Given the description of an element on the screen output the (x, y) to click on. 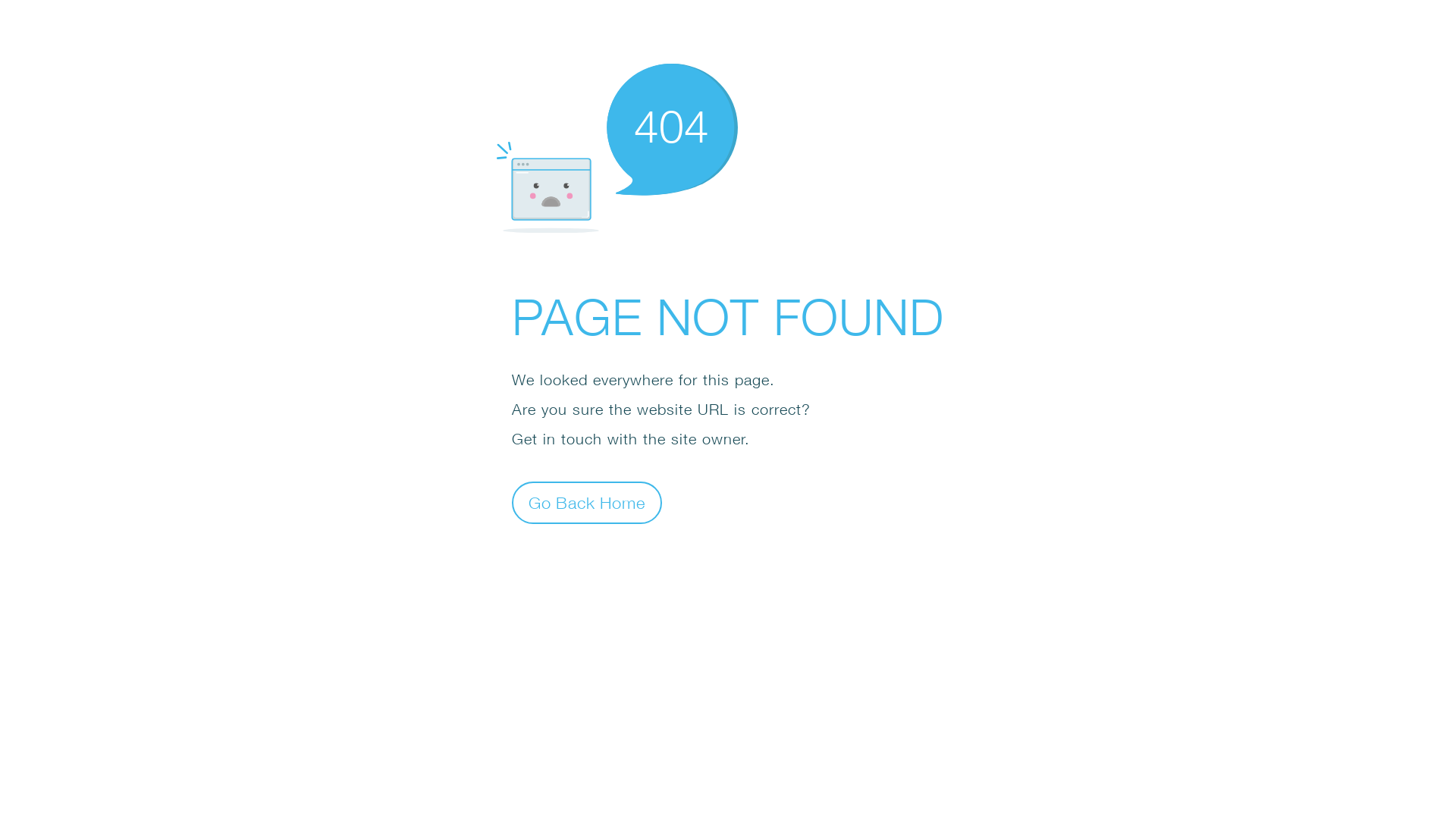
Go Back Home Element type: text (586, 502)
